Given the description of an element on the screen output the (x, y) to click on. 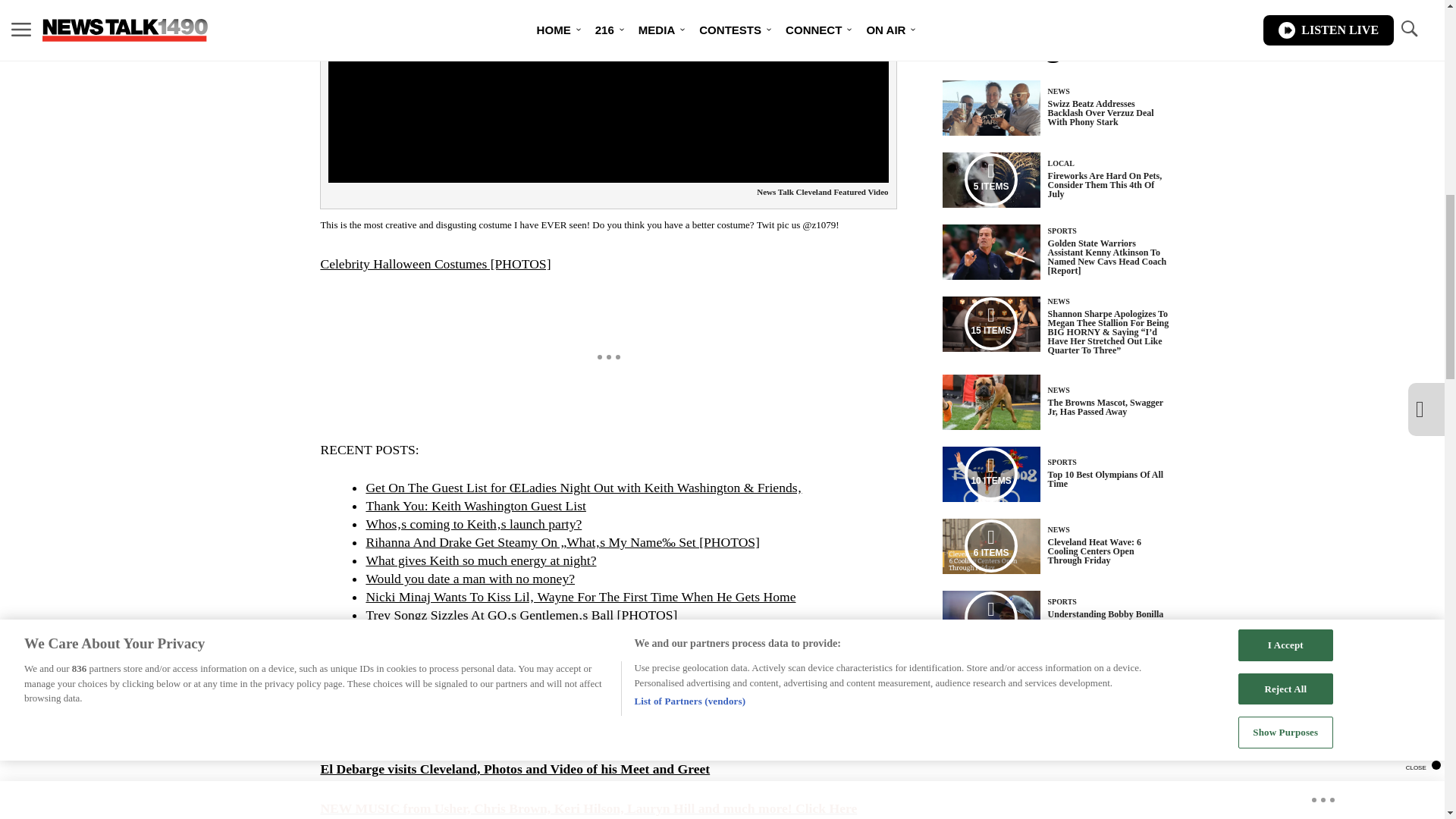
Thank You: Keith Washington Guest List (475, 505)
Would you date a man with no money? (470, 578)
Media Playlist (990, 473)
What gives Keith so much energy at night? (480, 560)
Media Playlist (990, 617)
Media Playlist (990, 179)
Media Playlist (990, 545)
Media Playlist (990, 323)
